Given the description of an element on the screen output the (x, y) to click on. 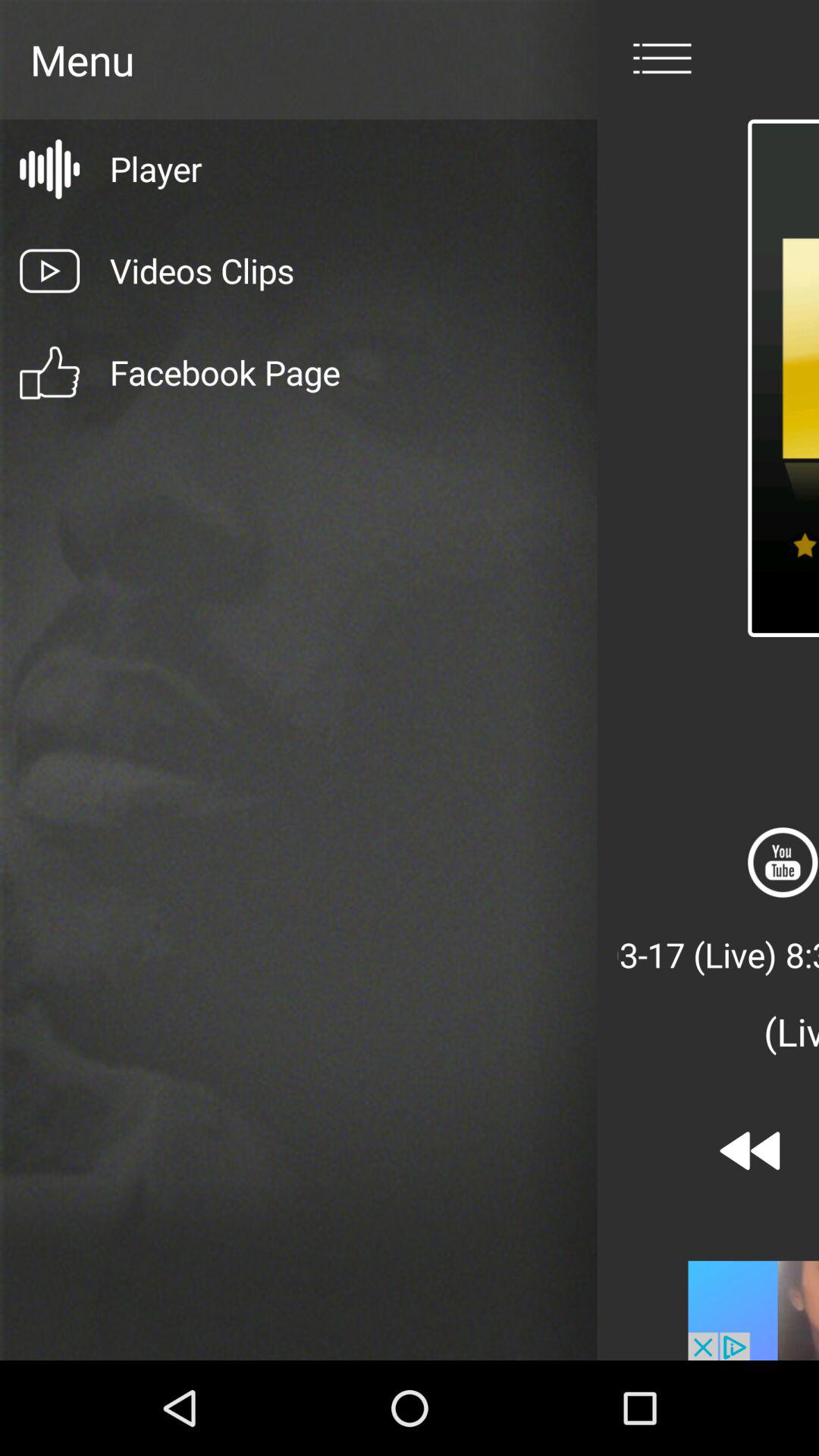
menu (662, 59)
